Given the description of an element on the screen output the (x, y) to click on. 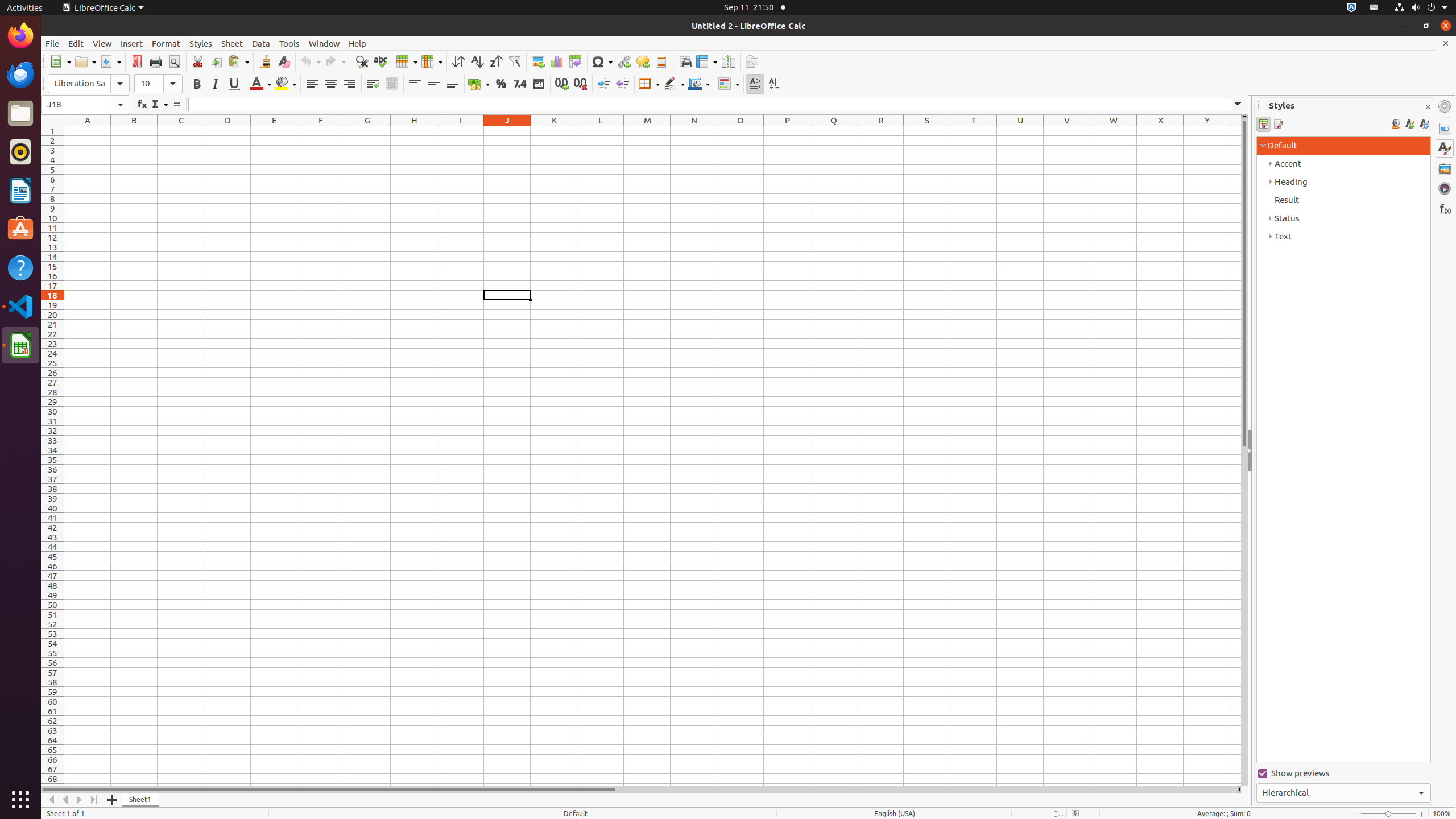
Clear Element type: push-button (283, 61)
F1 Element type: table-cell (320, 130)
New Style from Selection Element type: push-button (1409, 123)
